Given the description of an element on the screen output the (x, y) to click on. 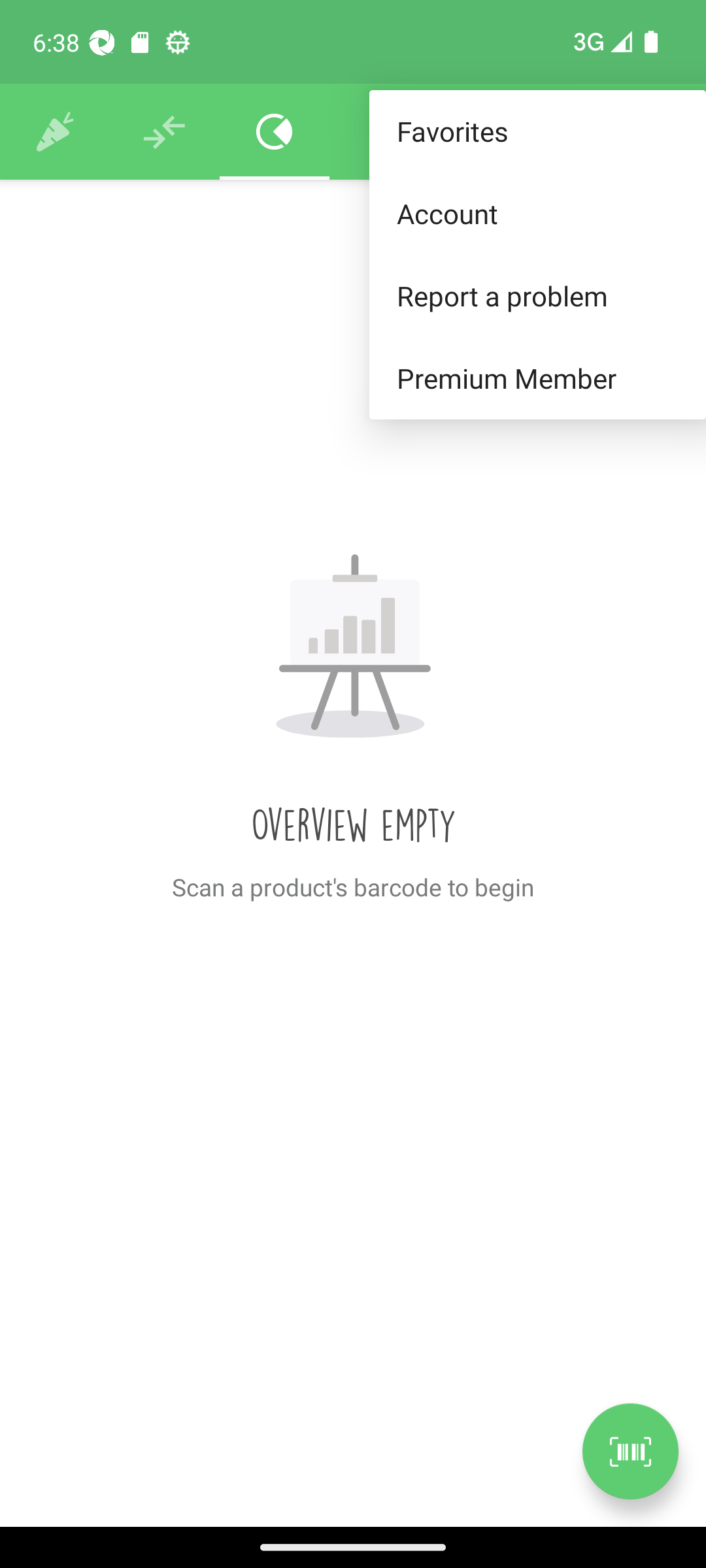
Favorites (537, 131)
Account (537, 213)
Report a problem (537, 295)
Premium Member (537, 378)
